Given the description of an element on the screen output the (x, y) to click on. 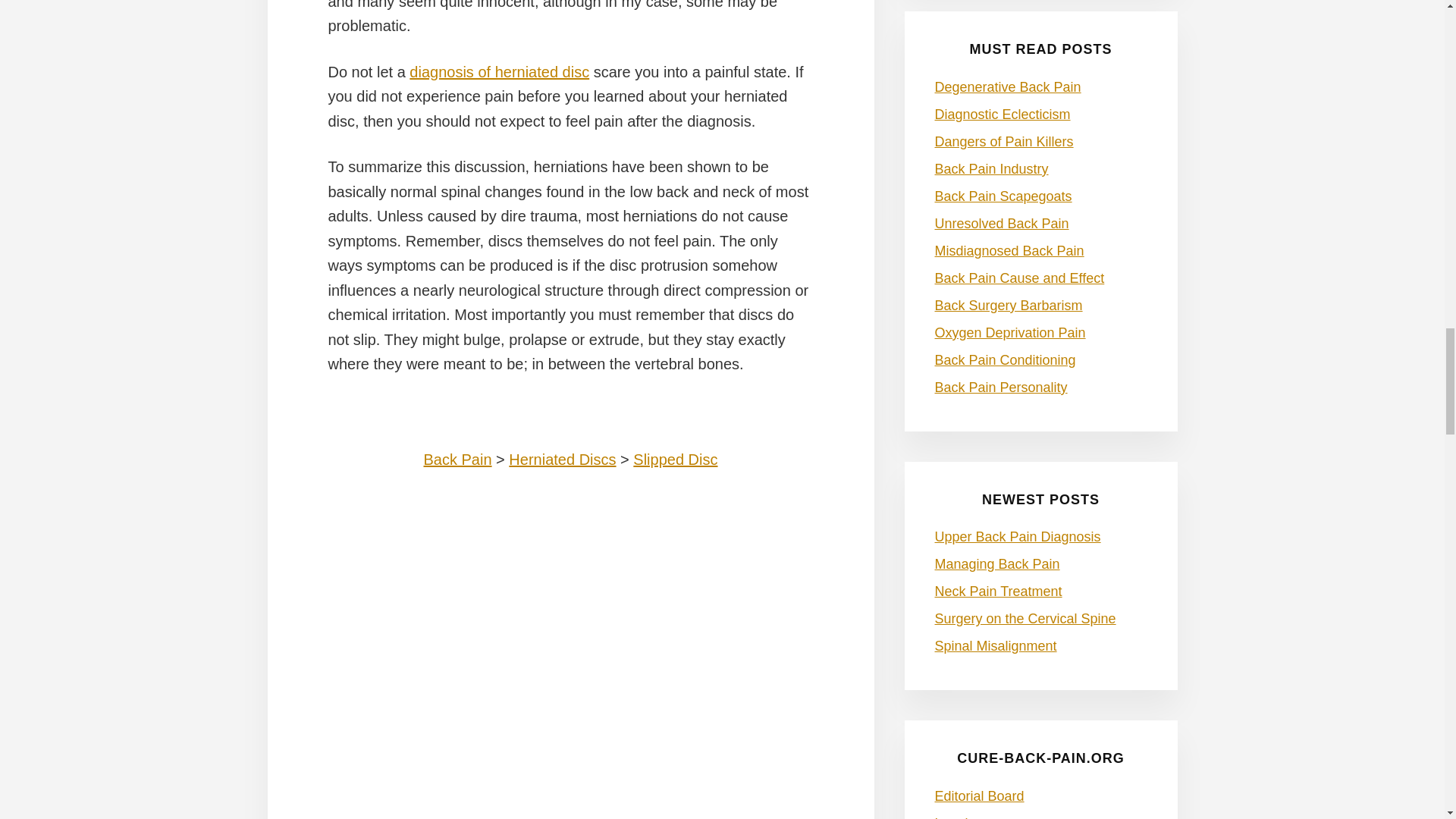
Herniated Discs (561, 459)
Back Pain (457, 459)
Slipped Disc (675, 459)
diagnosis of herniated disc (499, 71)
